Given the description of an element on the screen output the (x, y) to click on. 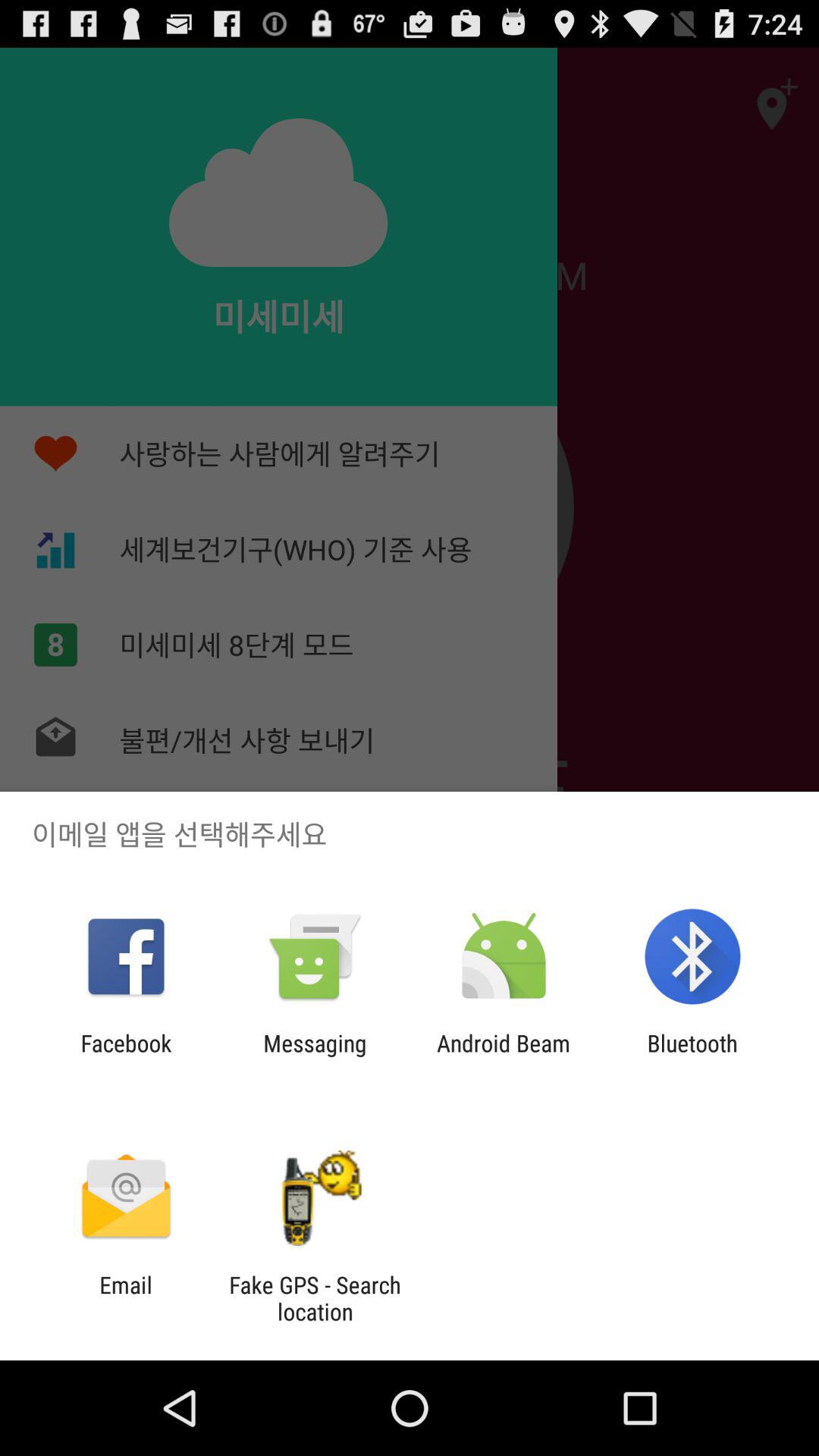
click the icon next to facebook (314, 1056)
